Given the description of an element on the screen output the (x, y) to click on. 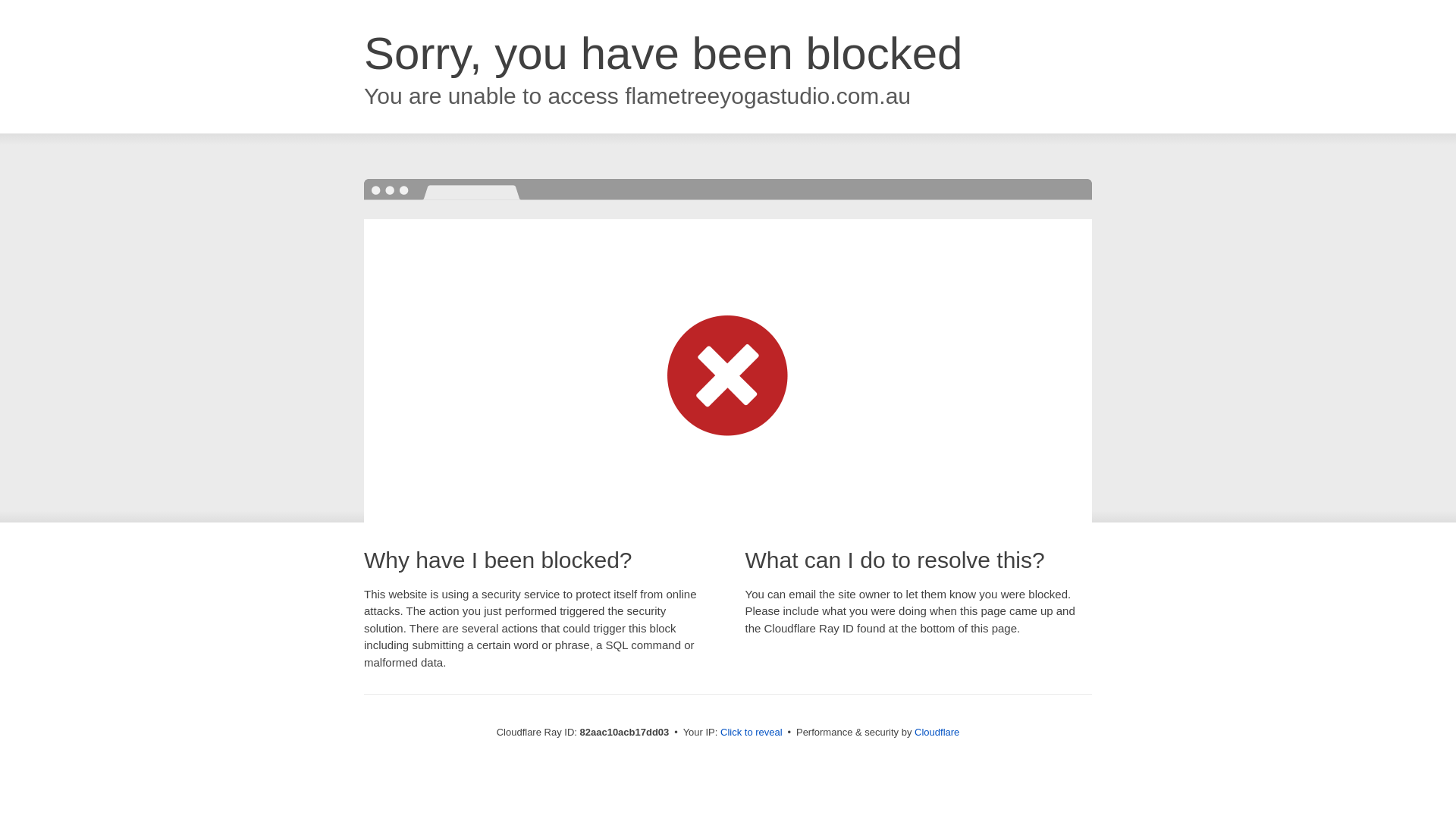
Click to reveal Element type: text (751, 732)
Cloudflare Element type: text (936, 731)
